Given the description of an element on the screen output the (x, y) to click on. 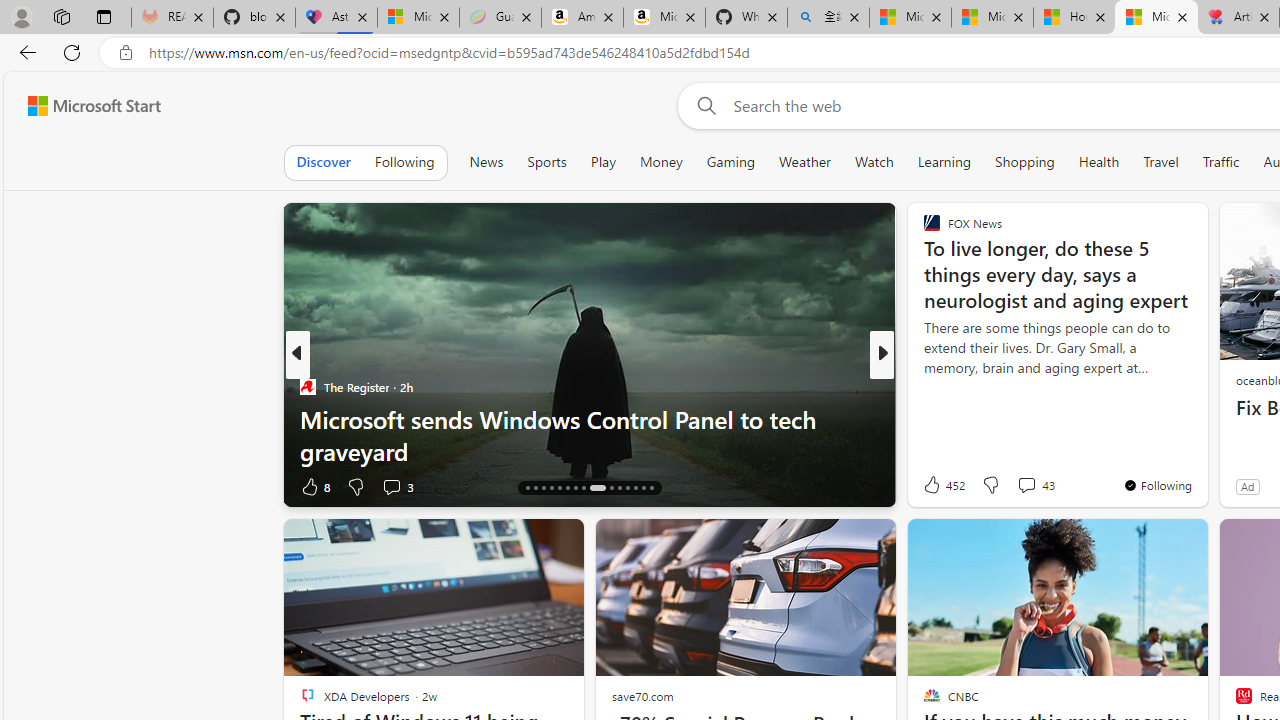
Play (603, 162)
View comments 43 Comment (1035, 484)
6 Like (930, 486)
View comments 197 Comment (1019, 485)
Sports (546, 161)
AutomationID: tab-18 (542, 487)
323 Like (936, 486)
Health (1099, 161)
View comments 7 Comment (1026, 486)
View comments 7 Comment (1019, 485)
AutomationID: tab-27 (627, 487)
